Given the description of an element on the screen output the (x, y) to click on. 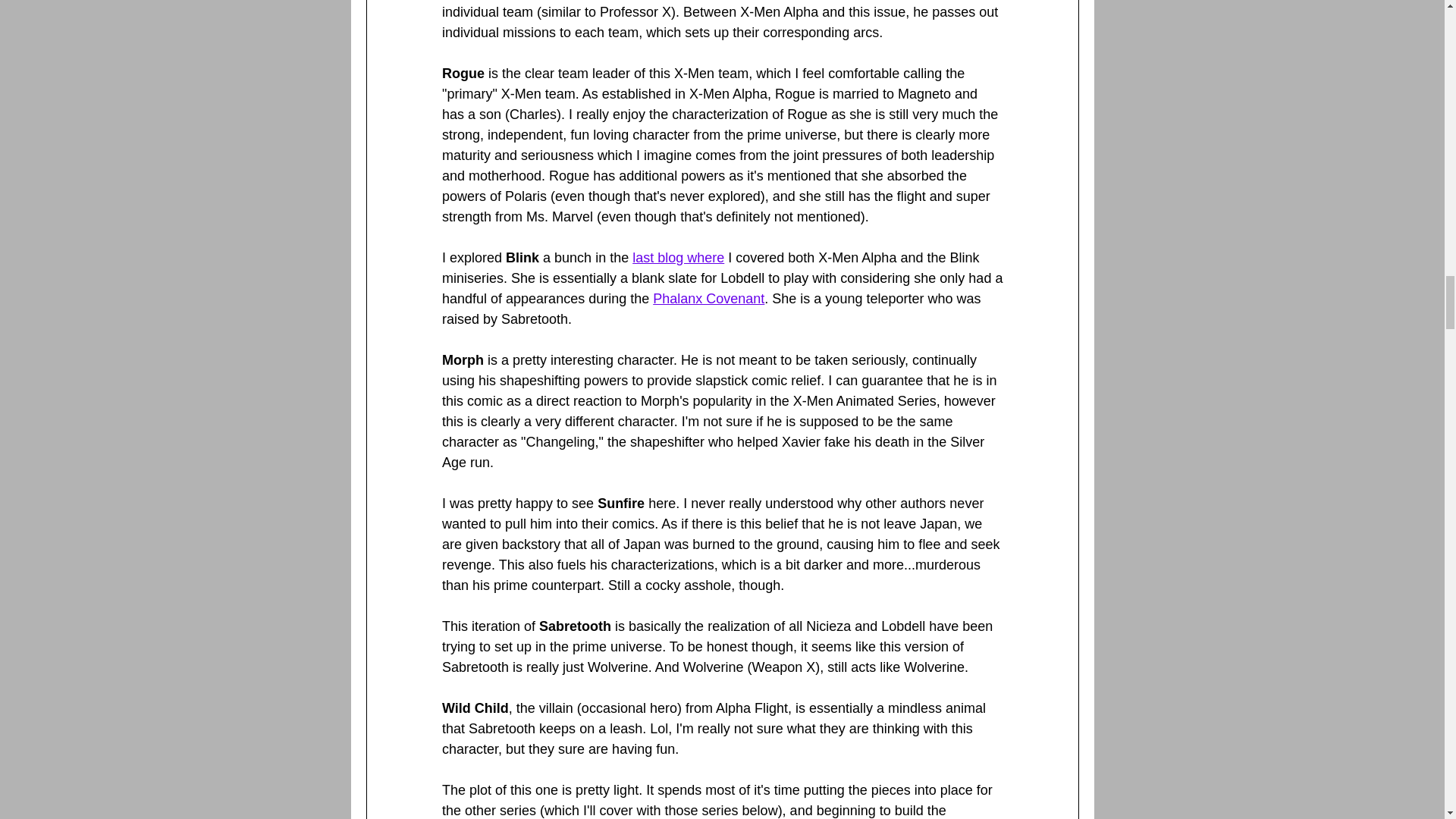
last blog where (677, 257)
Phalanx Covenant (708, 298)
